Given the description of an element on the screen output the (x, y) to click on. 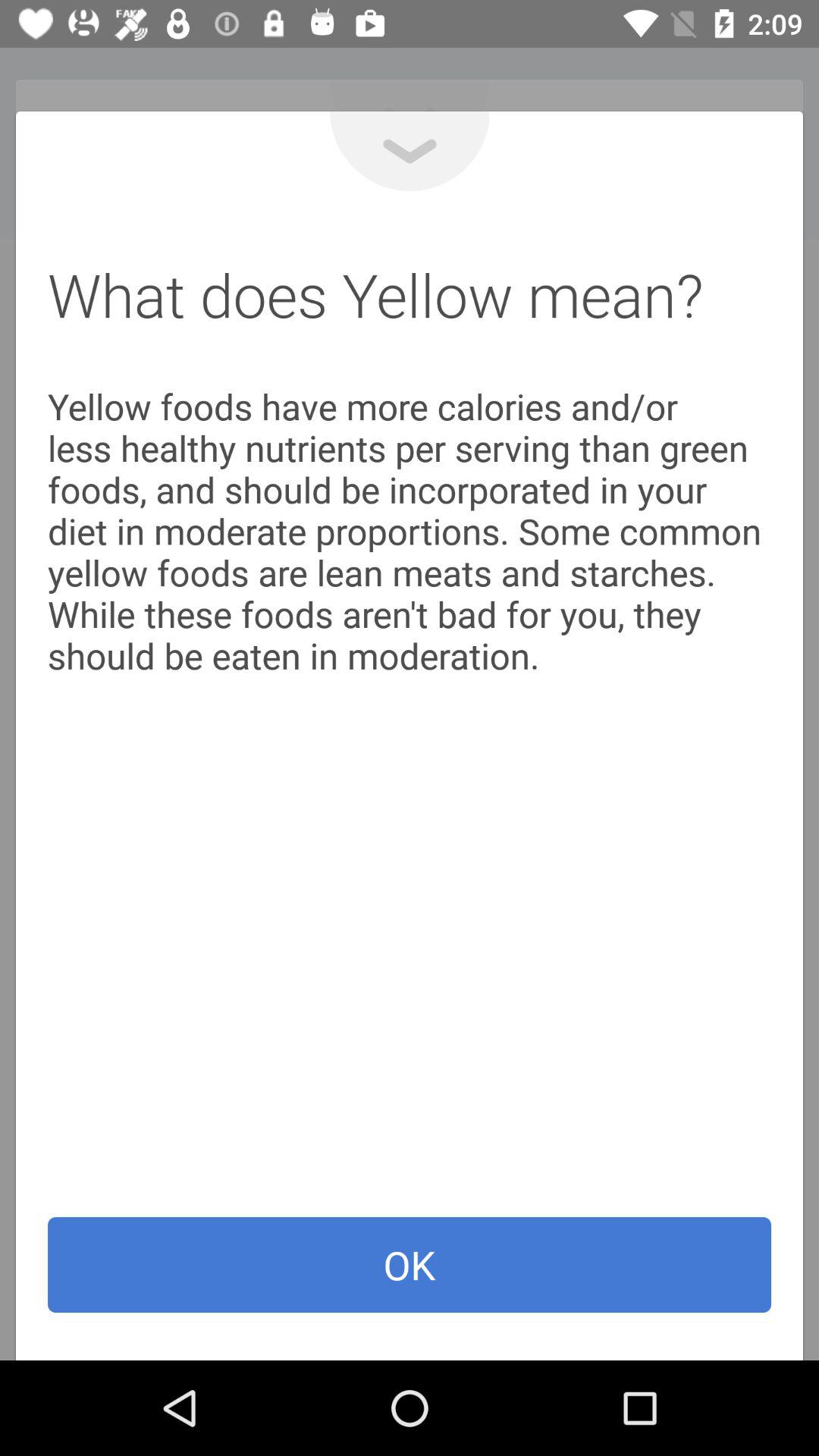
press the ok (409, 1264)
